Given the description of an element on the screen output the (x, y) to click on. 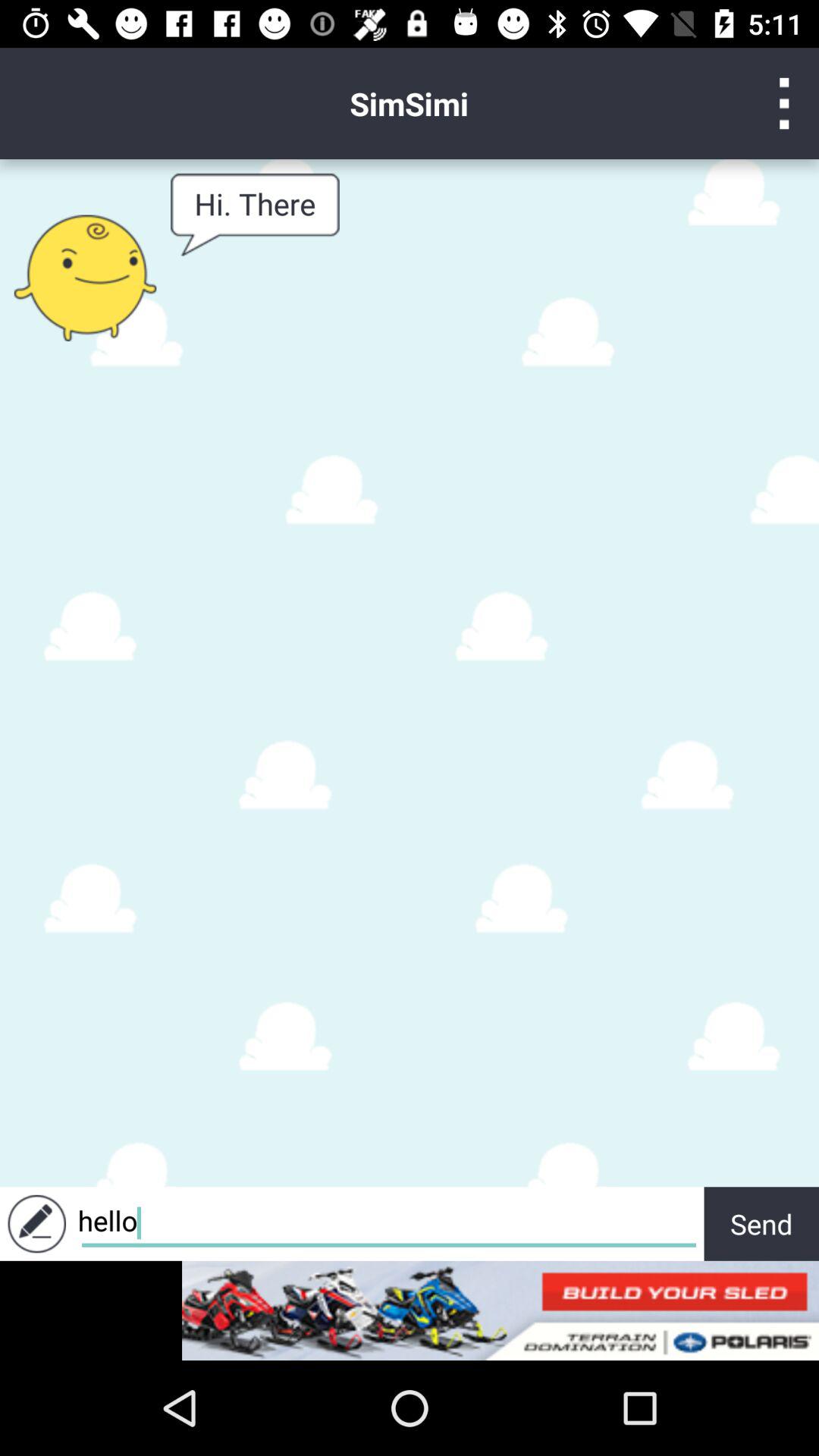
go to write (36, 1223)
